Given the description of an element on the screen output the (x, y) to click on. 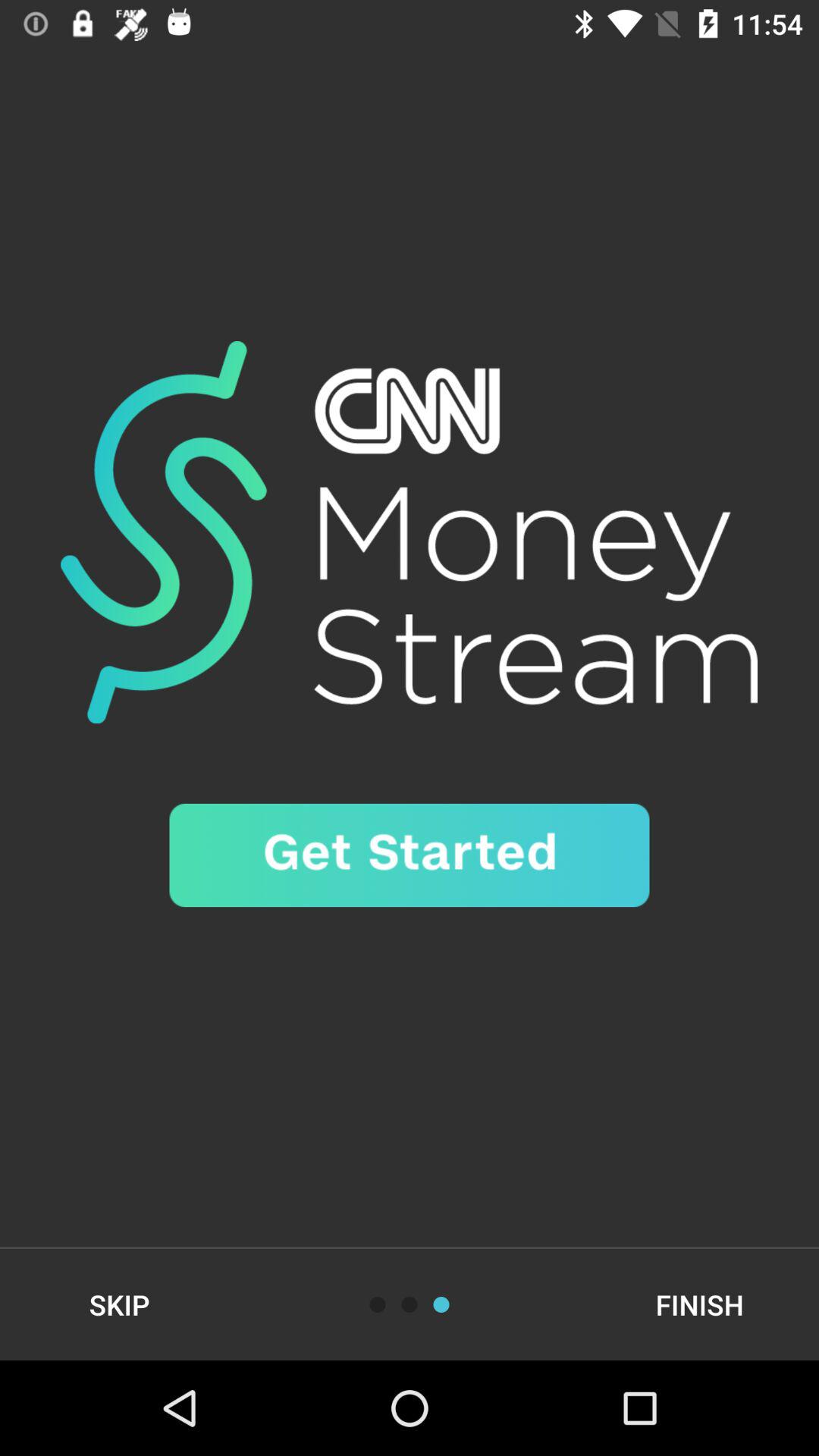
staet app (409, 855)
